Given the description of an element on the screen output the (x, y) to click on. 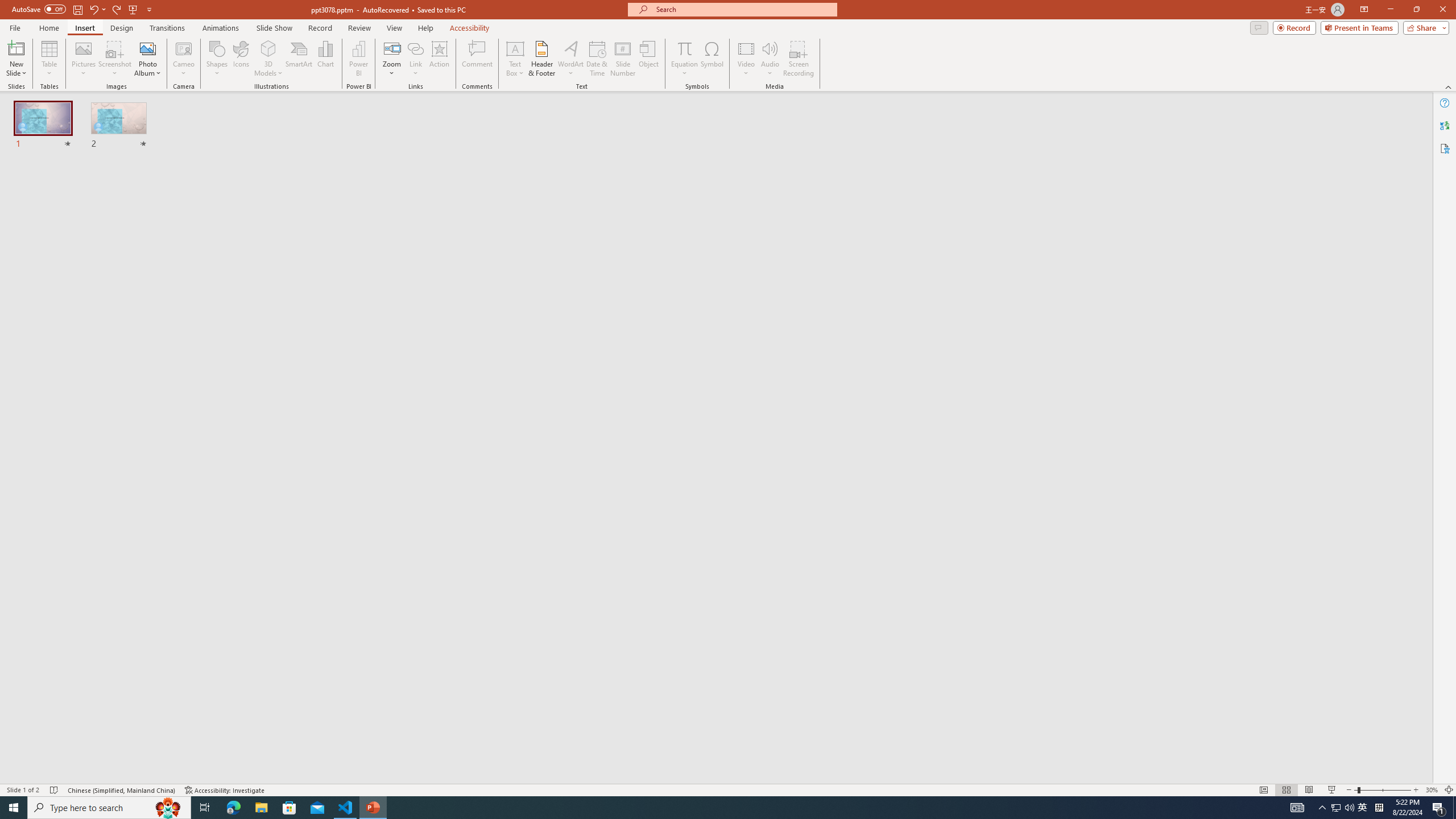
Equation (683, 58)
New Slide (16, 58)
Text Box (515, 58)
Screen Recording... (798, 58)
Table (49, 58)
